Given the description of an element on the screen output the (x, y) to click on. 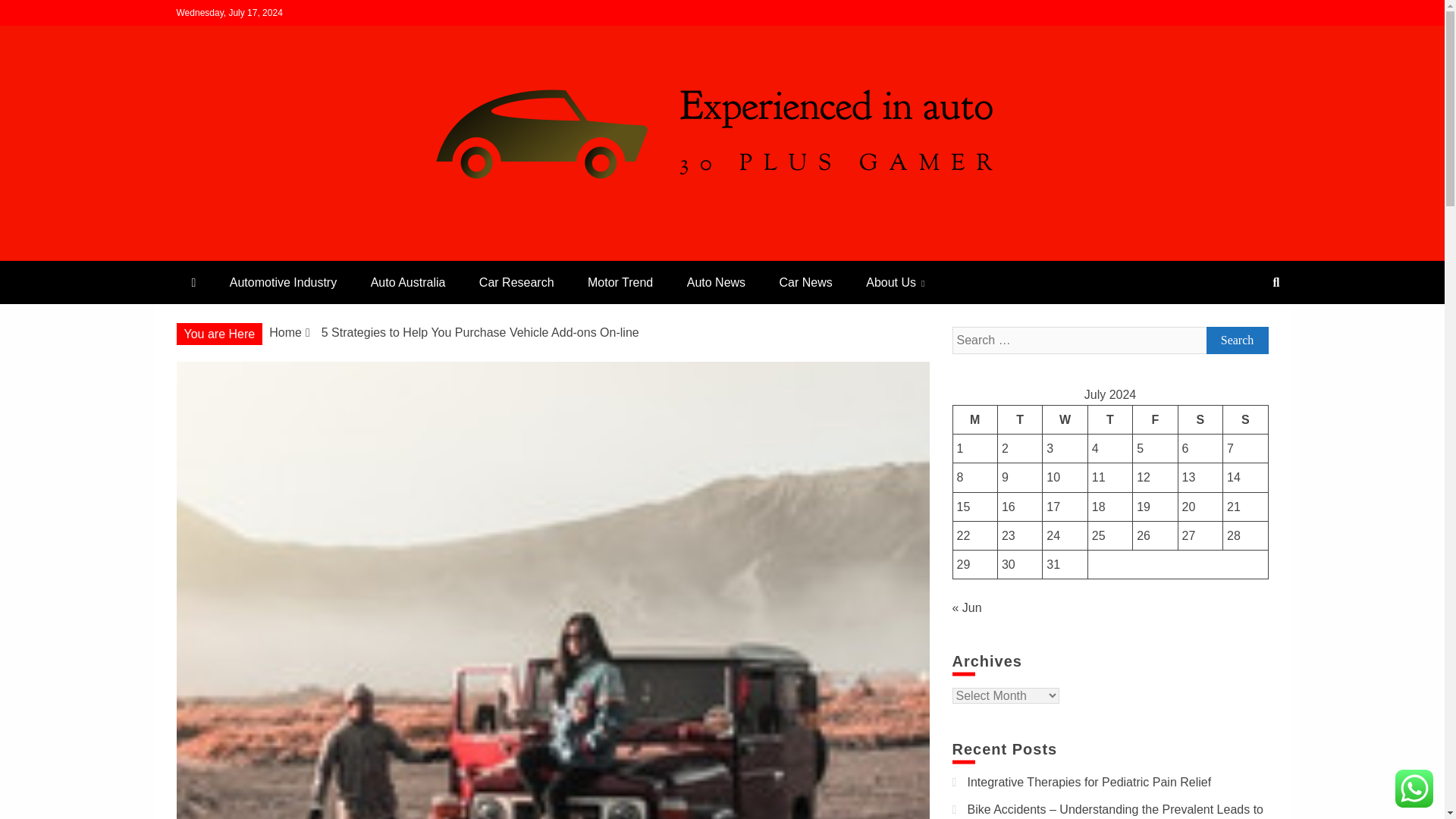
Search (31, 13)
Friday (1154, 419)
Automotive Industry (283, 282)
Car Research (516, 282)
Wednesday (1064, 419)
Monday (974, 419)
Car News (805, 282)
Tuesday (1019, 419)
Search (1236, 339)
Auto News (715, 282)
Thursday (1109, 419)
Motor Trend (620, 282)
30 Plus Gamer (275, 254)
Search (1236, 339)
